Given the description of an element on the screen output the (x, y) to click on. 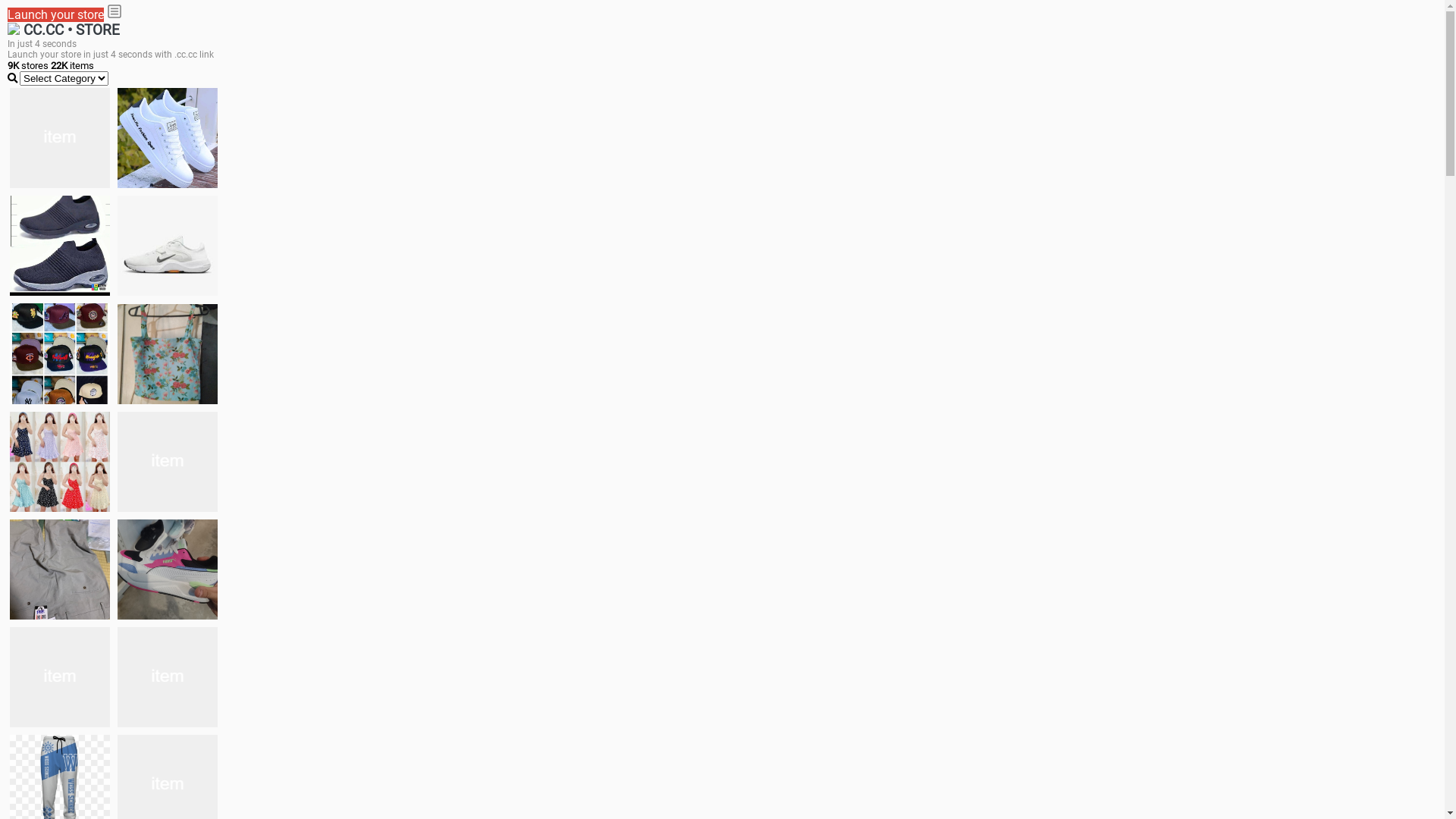
Shoes Element type: hover (167, 461)
jacket Element type: hover (59, 137)
Ukay cloth Element type: hover (167, 353)
Short pant Element type: hover (167, 676)
Zapatillas Element type: hover (59, 676)
shoes for boys Element type: hover (59, 245)
Things we need Element type: hover (59, 353)
Shoes for boys Element type: hover (167, 245)
white shoes Element type: hover (167, 137)
Zapatillas pumas Element type: hover (167, 568)
Dress/square nect top Element type: hover (59, 461)
Launch your store Element type: text (55, 14)
